Given the description of an element on the screen output the (x, y) to click on. 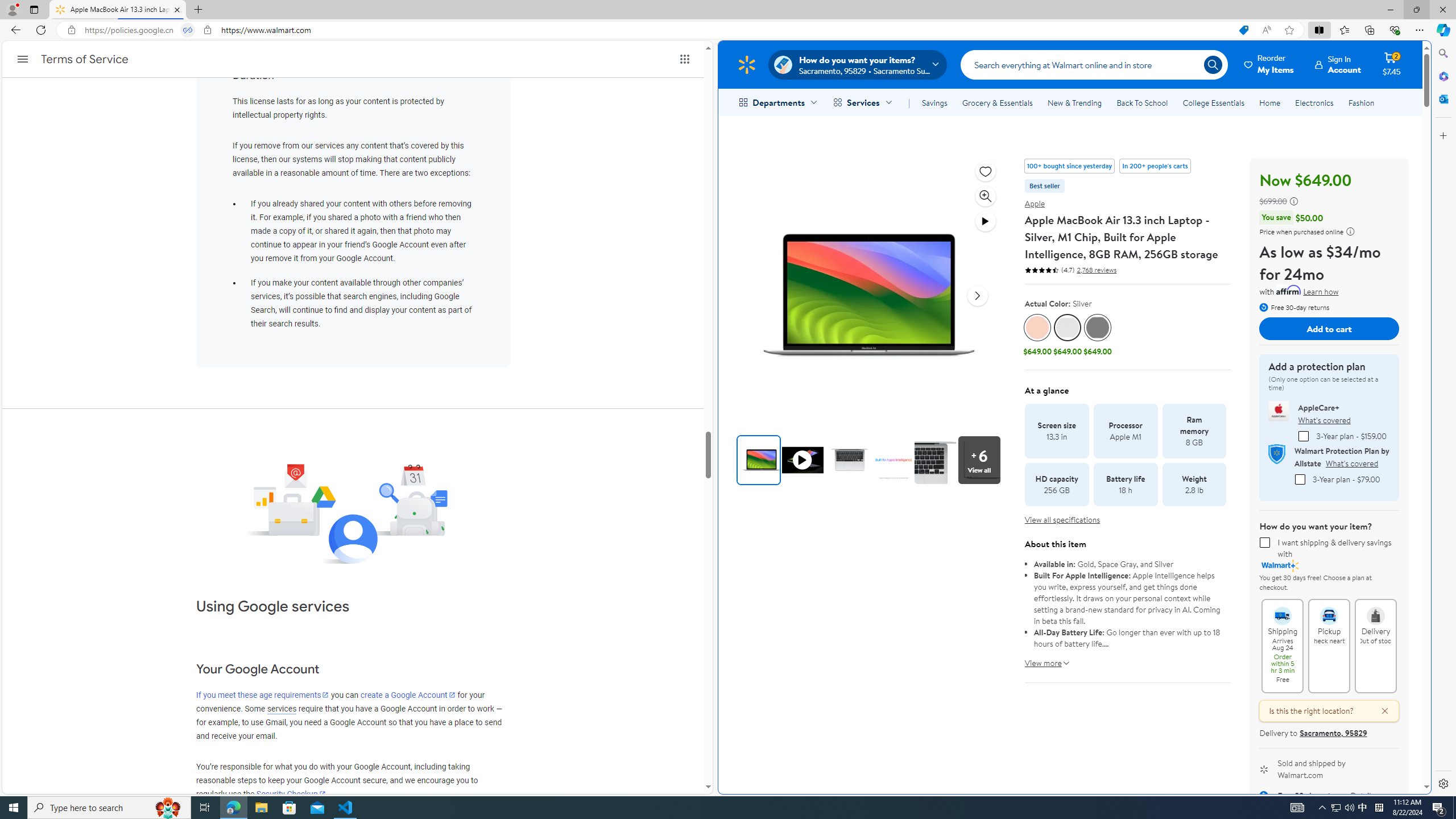
legal information (1350, 230)
College Essentials (1213, 102)
View all media (982, 459)
Class: absolute pointer (802, 459)
New & Trending (1075, 102)
New & Trending (1075, 102)
Space Gray (1097, 327)
Grocery & Essentials (997, 102)
